Given the description of an element on the screen output the (x, y) to click on. 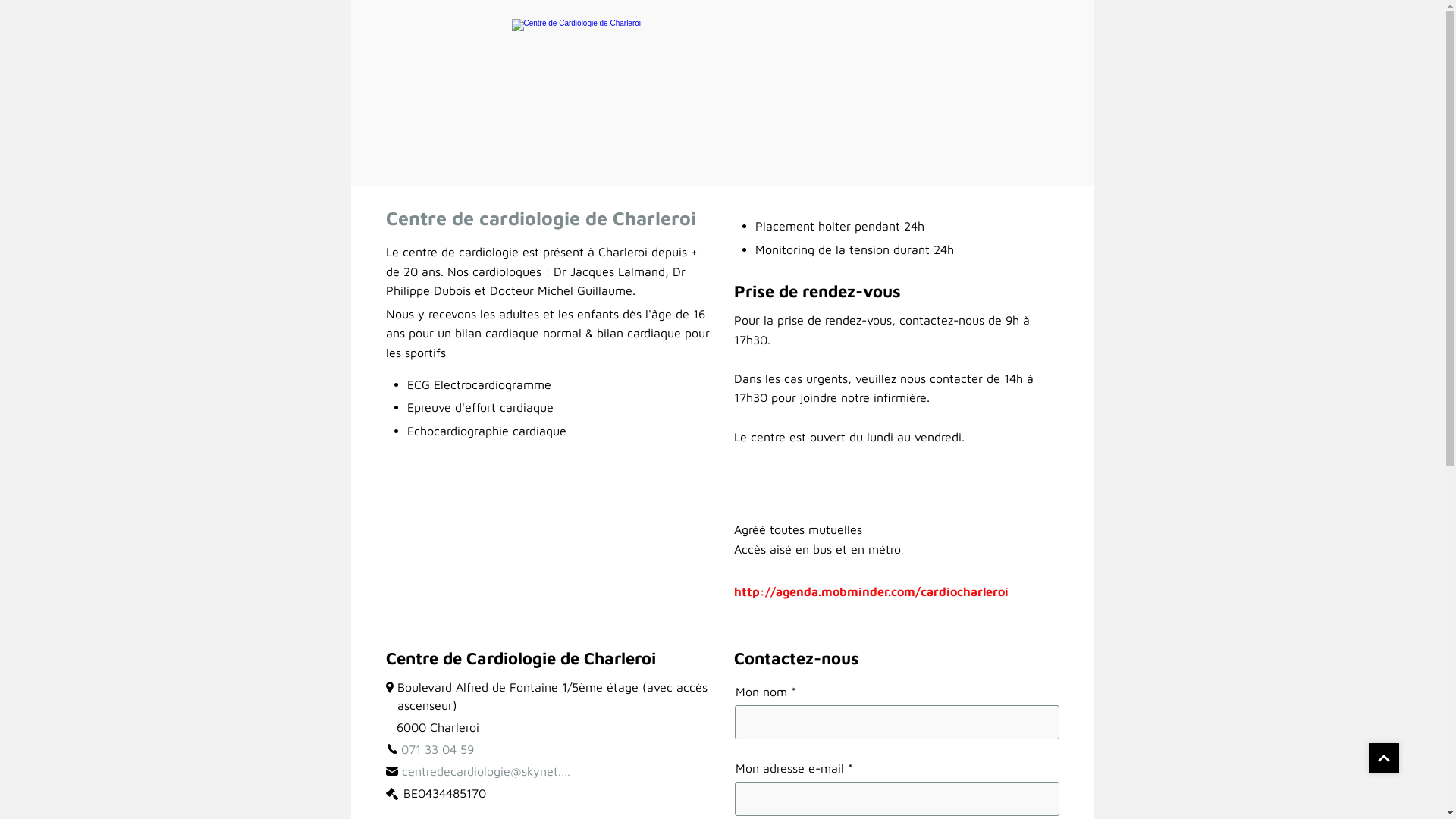
centredecardiologie@skynet.be Element type: text (479, 771)
071 33 04 59 Element type: text (429, 749)
http://agenda.mobminder.com/cardiocharleroi Element type: text (871, 591)
Centre de Cardiologie de Charleroi Element type: hover (721, 92)
